Given the description of an element on the screen output the (x, y) to click on. 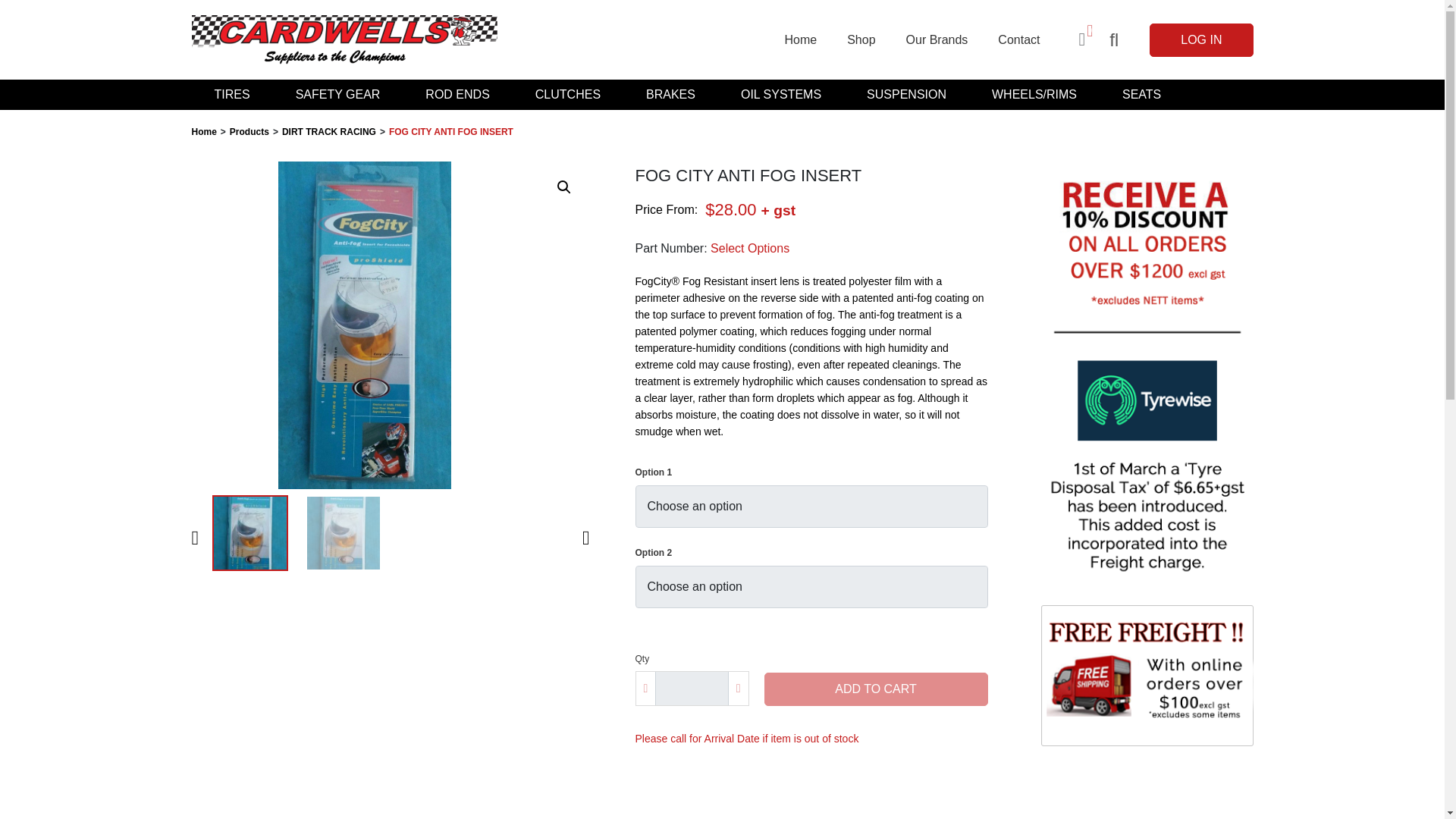
OIL SYSTEMS (780, 94)
SAFETY GEAR (338, 94)
TIRES (231, 94)
SEATS (1141, 94)
Our Brands (937, 39)
ROD ENDS (457, 94)
Shop (860, 39)
Home (799, 39)
LOG IN (1201, 39)
BRAKES (670, 94)
CLUTCHES (567, 94)
SUSPENSION (906, 94)
Contact (1018, 39)
